Given the description of an element on the screen output the (x, y) to click on. 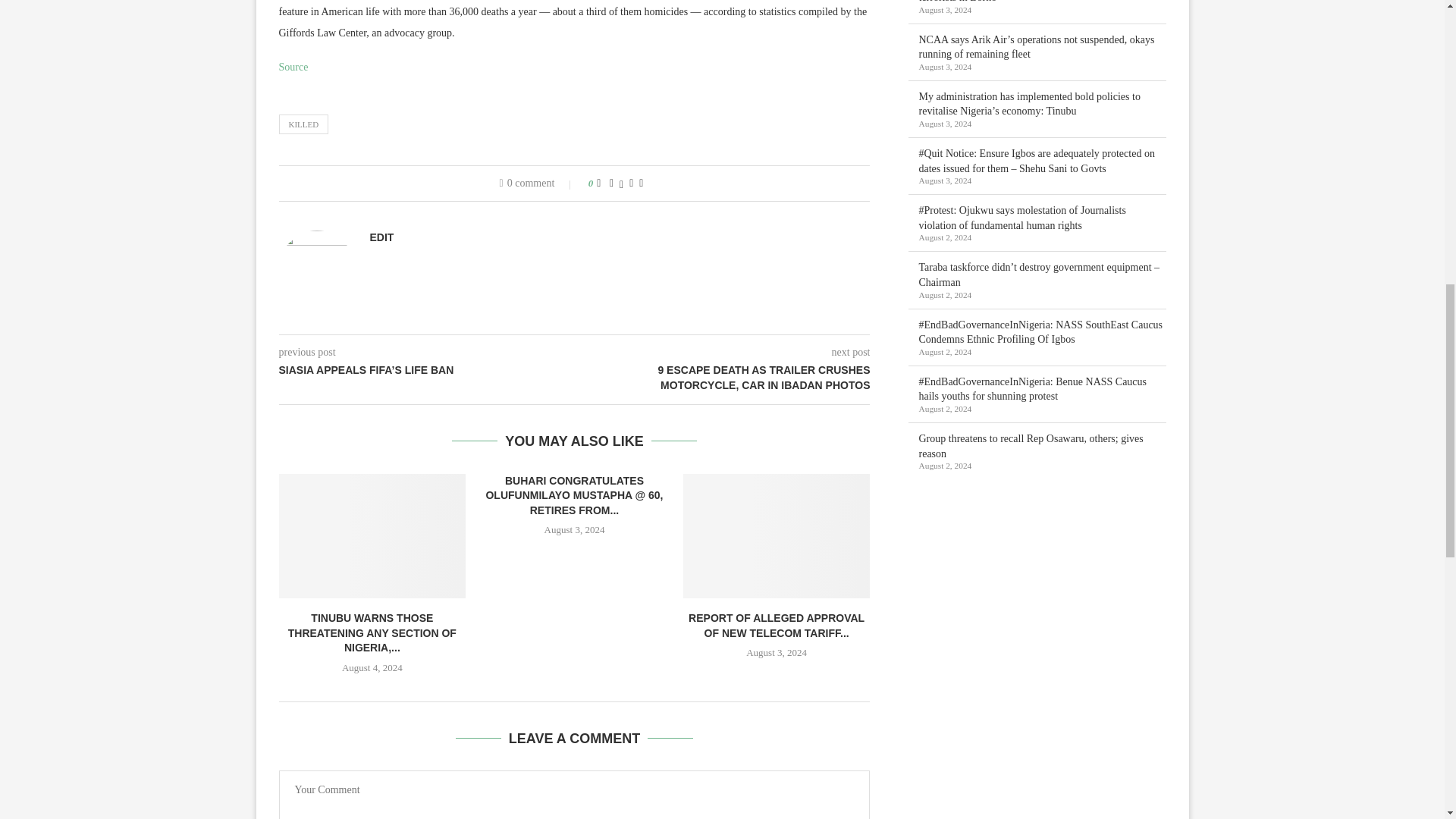
Author Edit (381, 237)
